Given the description of an element on the screen output the (x, y) to click on. 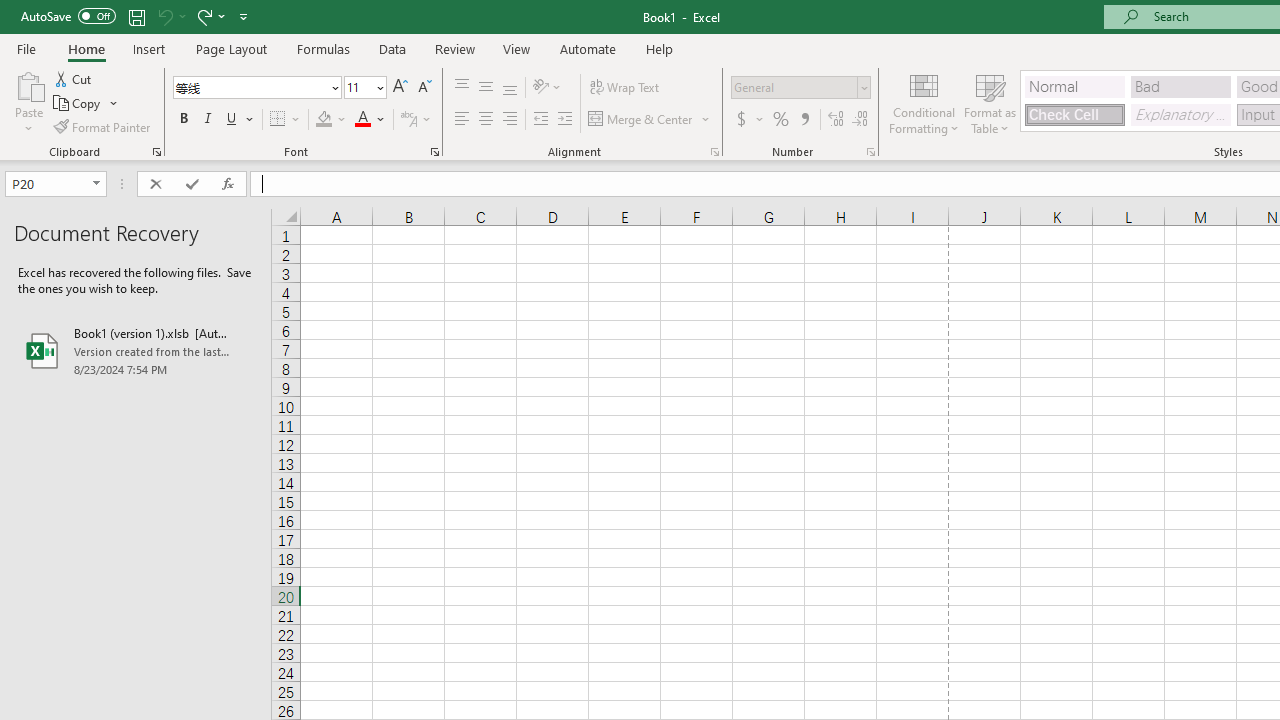
Underline (232, 119)
Format Painter (103, 126)
Home (86, 48)
Paste (28, 84)
Help (660, 48)
Insert (149, 48)
Open (96, 183)
Save (136, 15)
Middle Align (485, 87)
Font (250, 87)
Format Cell Alignment (714, 151)
Accounting Number Format (749, 119)
Merge & Center (641, 119)
Number Format (800, 87)
